Given the description of an element on the screen output the (x, y) to click on. 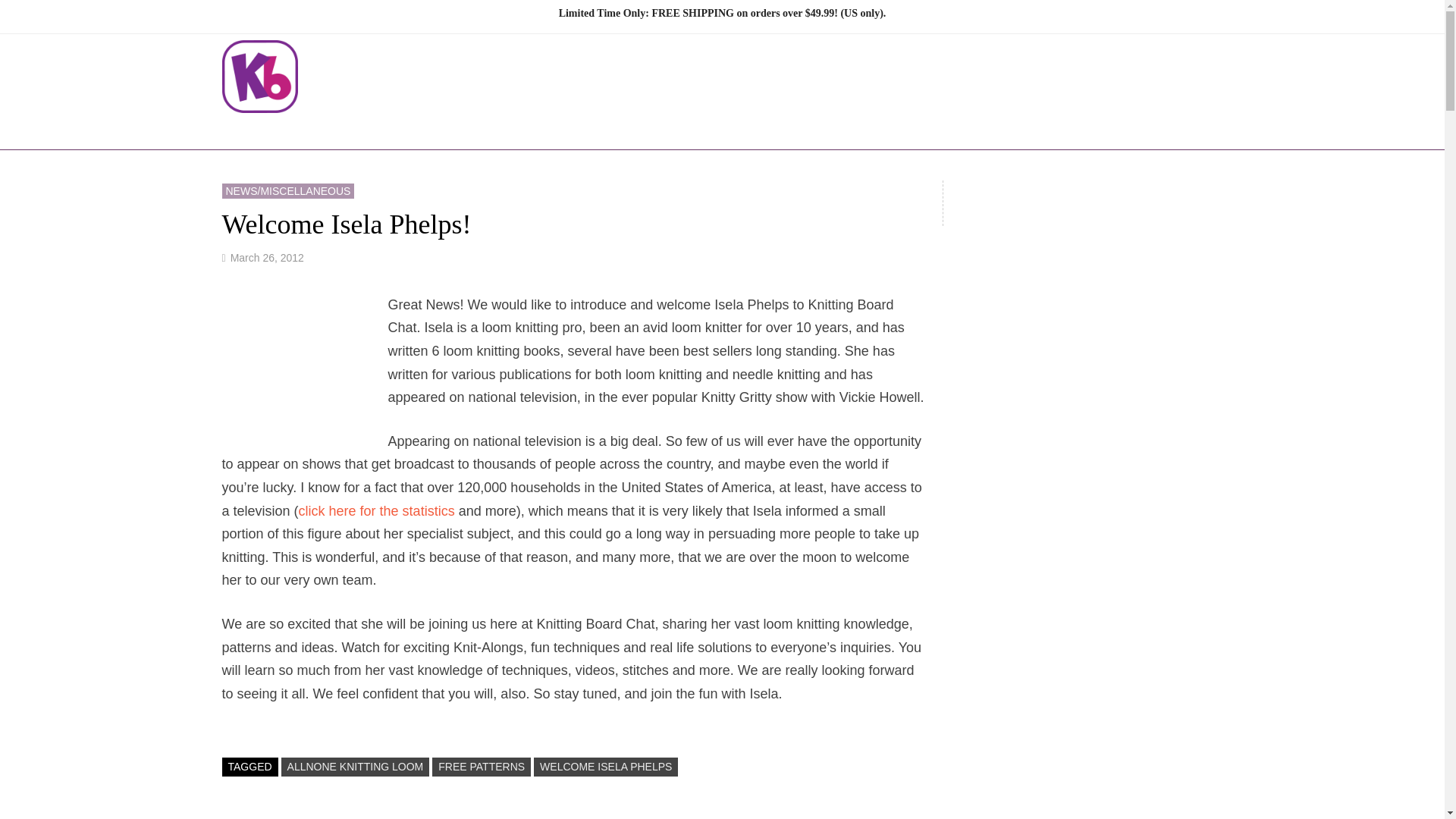
FAQS (958, 130)
iselaphoto (304, 368)
SHOP (637, 130)
LEARN (822, 130)
FLEXEE LOOMS (529, 130)
PATTERNS (727, 130)
BLOG (896, 130)
